Given the description of an element on the screen output the (x, y) to click on. 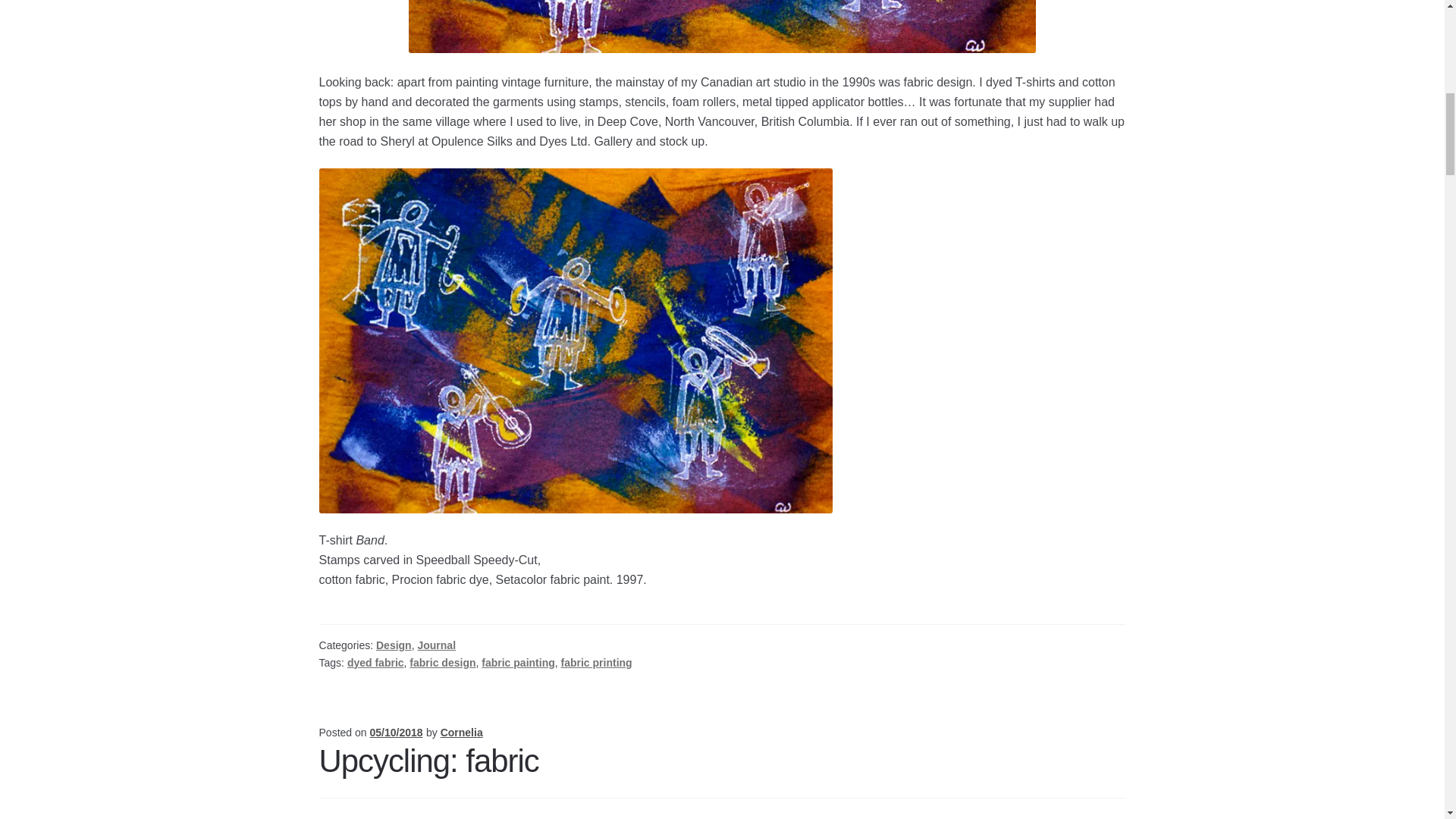
fabric painting (517, 662)
dyed fabric (375, 662)
Design (393, 645)
fabric printing (595, 662)
Journal (435, 645)
Upcycling: fabric (428, 760)
Cornelia (462, 732)
fabric design (442, 662)
